Given the description of an element on the screen output the (x, y) to click on. 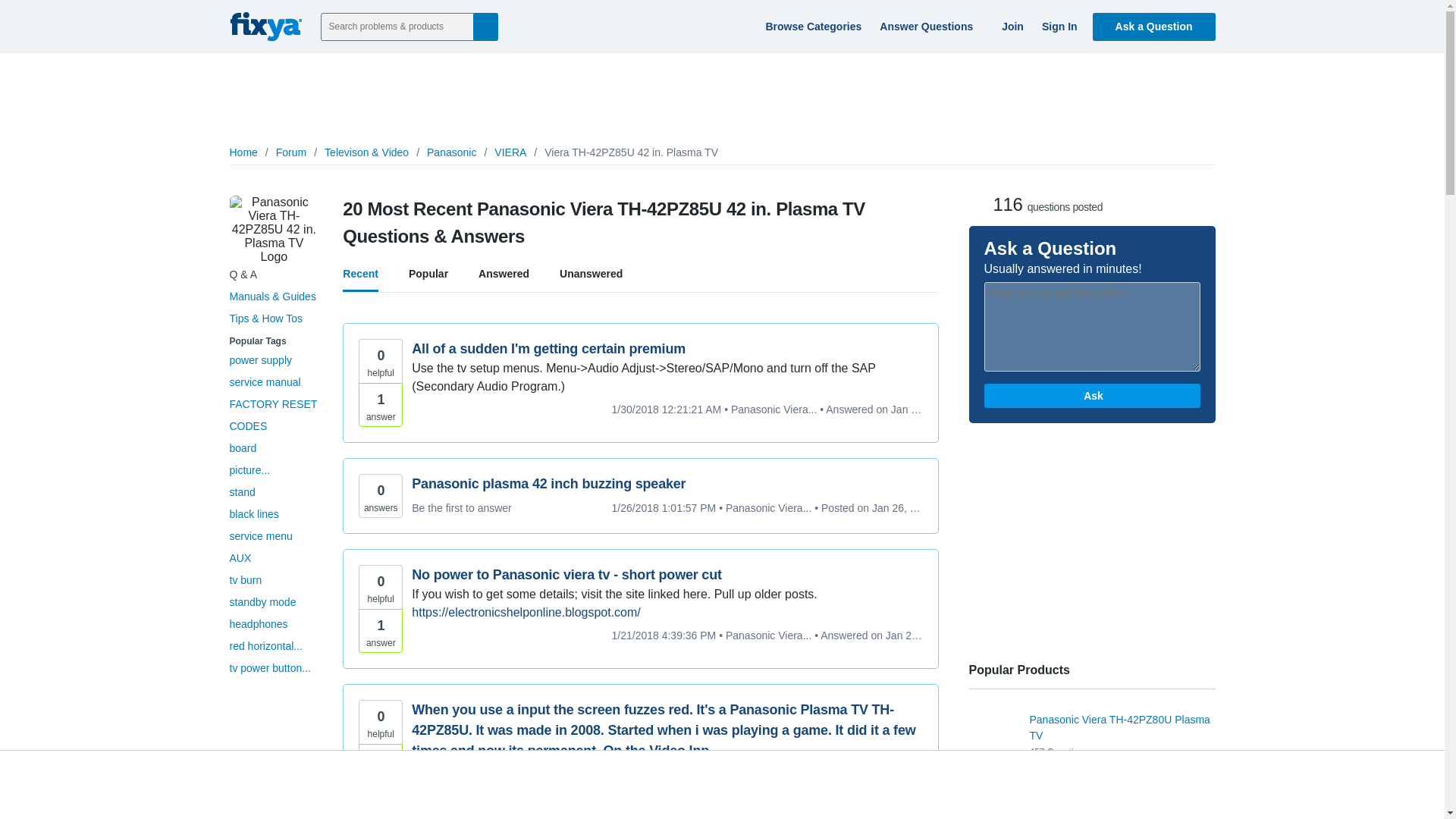
tv burn (245, 580)
Share on Twitter (1139, 188)
CODES (247, 426)
black lines (253, 513)
Join (1010, 26)
Panasonic plasma 42 inch buzzing speaker (666, 484)
Share on Twitter (1139, 188)
Home (242, 152)
All of a sudden I'm getting certain premium (666, 349)
Browse Categories (810, 26)
Search Fixya (485, 26)
VIERA (510, 152)
AUX (239, 558)
Ask (1091, 395)
stand (241, 491)
